Given the description of an element on the screen output the (x, y) to click on. 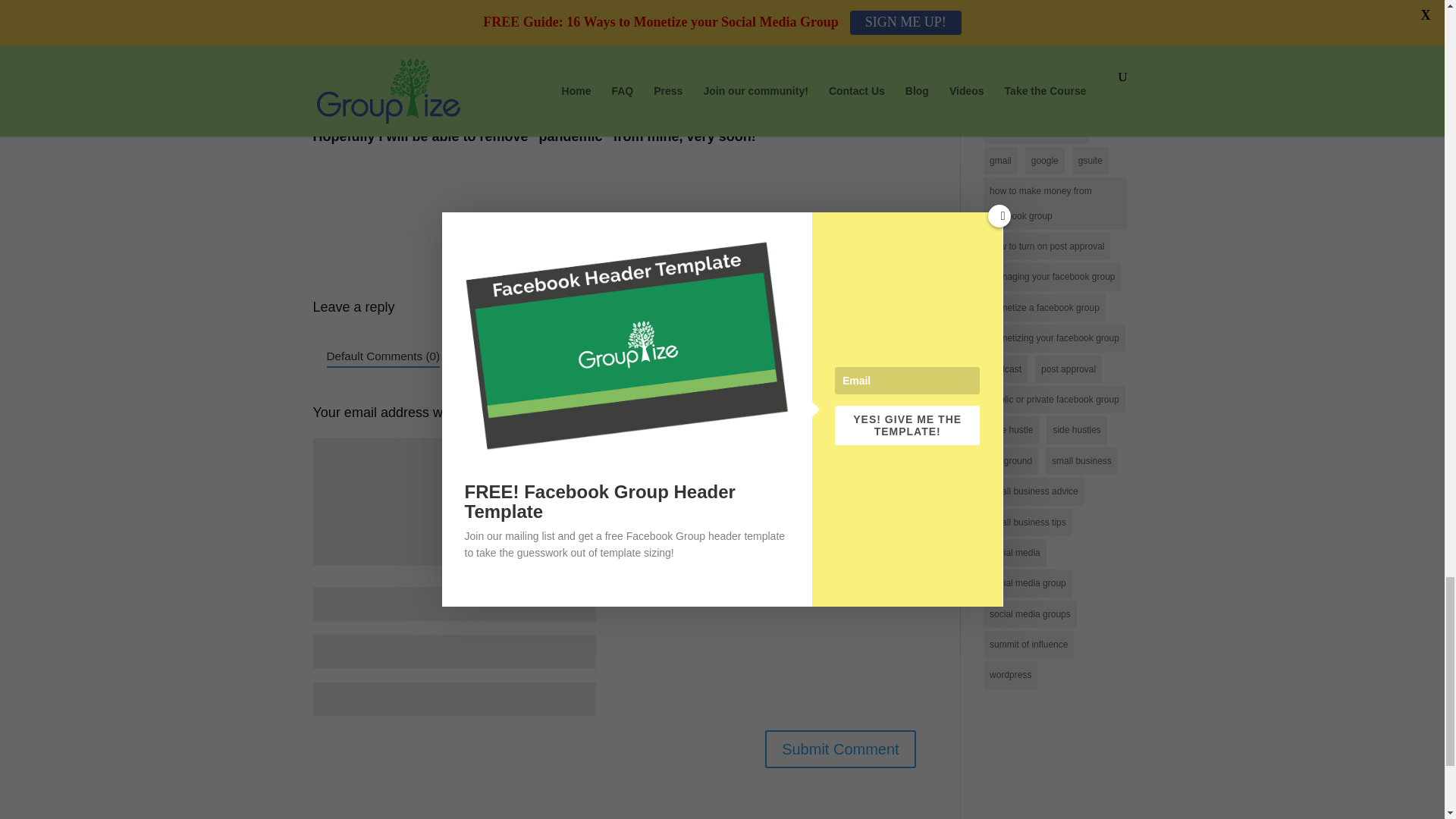
Submit Comment (840, 749)
Submit Comment (840, 749)
